Given the description of an element on the screen output the (x, y) to click on. 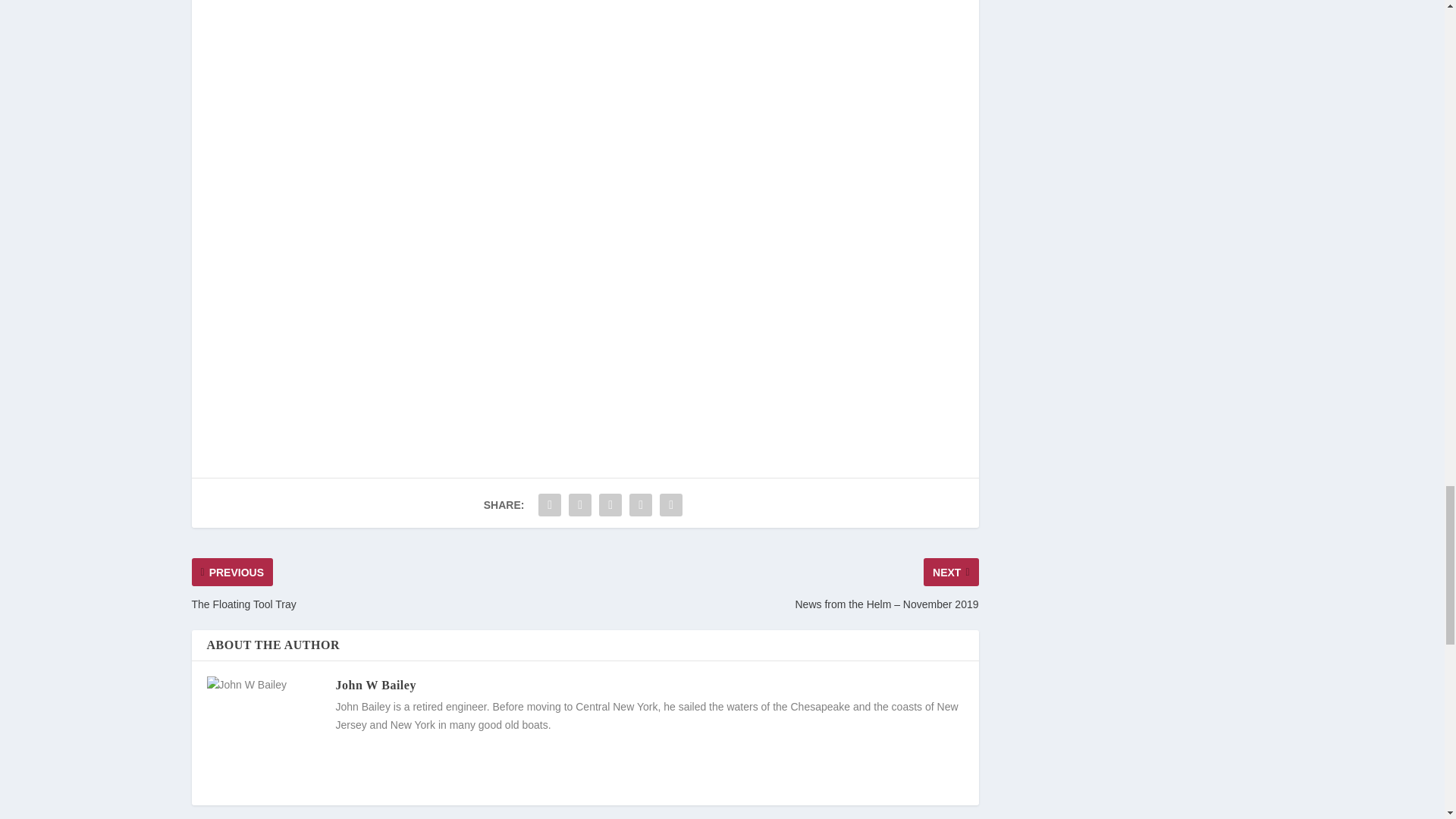
Share "Kiltie and I" via Email (641, 504)
Share "Kiltie and I" via Facebook (549, 504)
John W Bailey (374, 684)
View all posts by John W Bailey (374, 684)
Share "Kiltie and I" via Pinterest (610, 504)
Share "Kiltie and I" via Print (670, 504)
Share "Kiltie and I" via Twitter (579, 504)
